Given the description of an element on the screen output the (x, y) to click on. 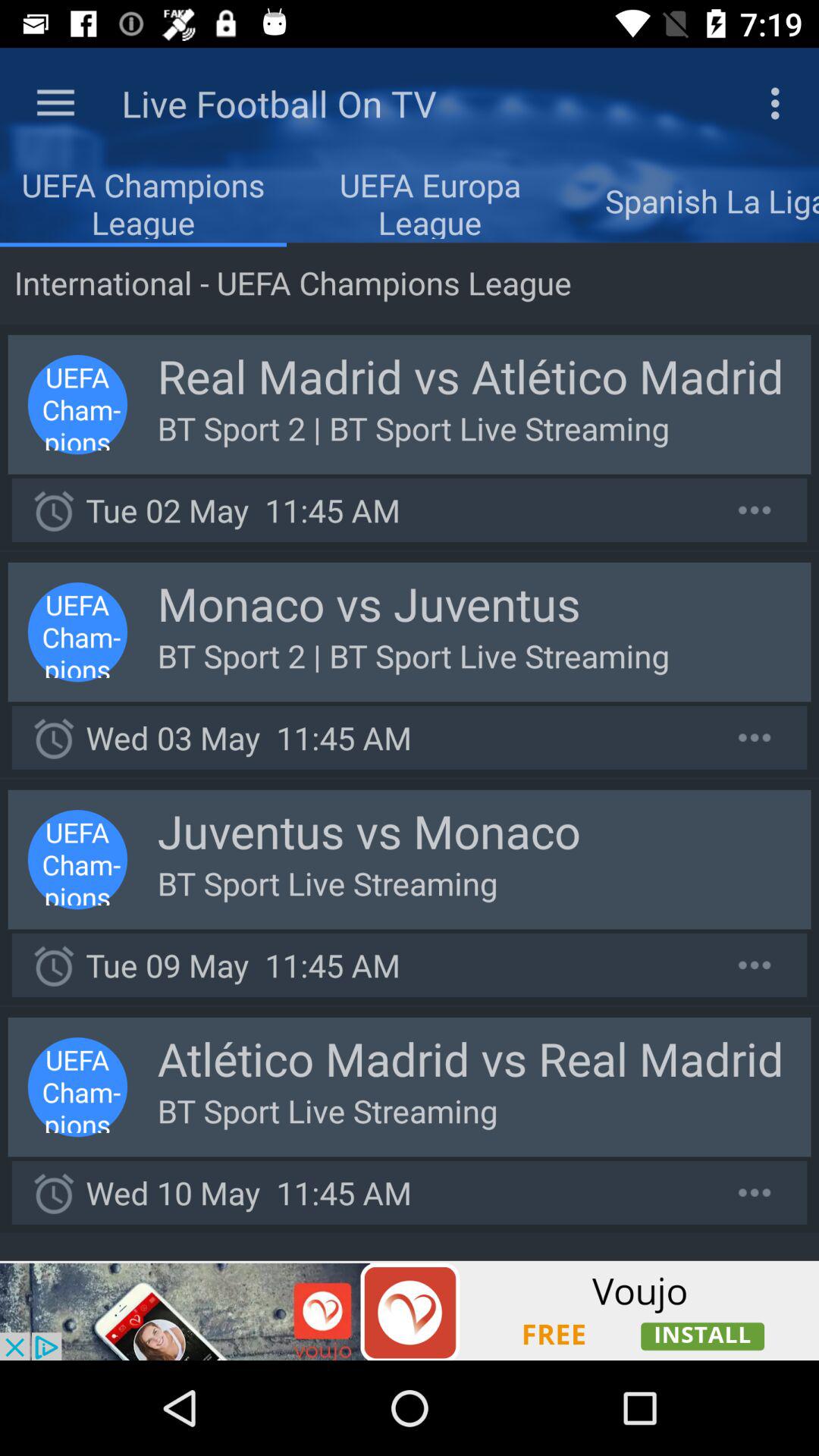
option (755, 510)
